Given the description of an element on the screen output the (x, y) to click on. 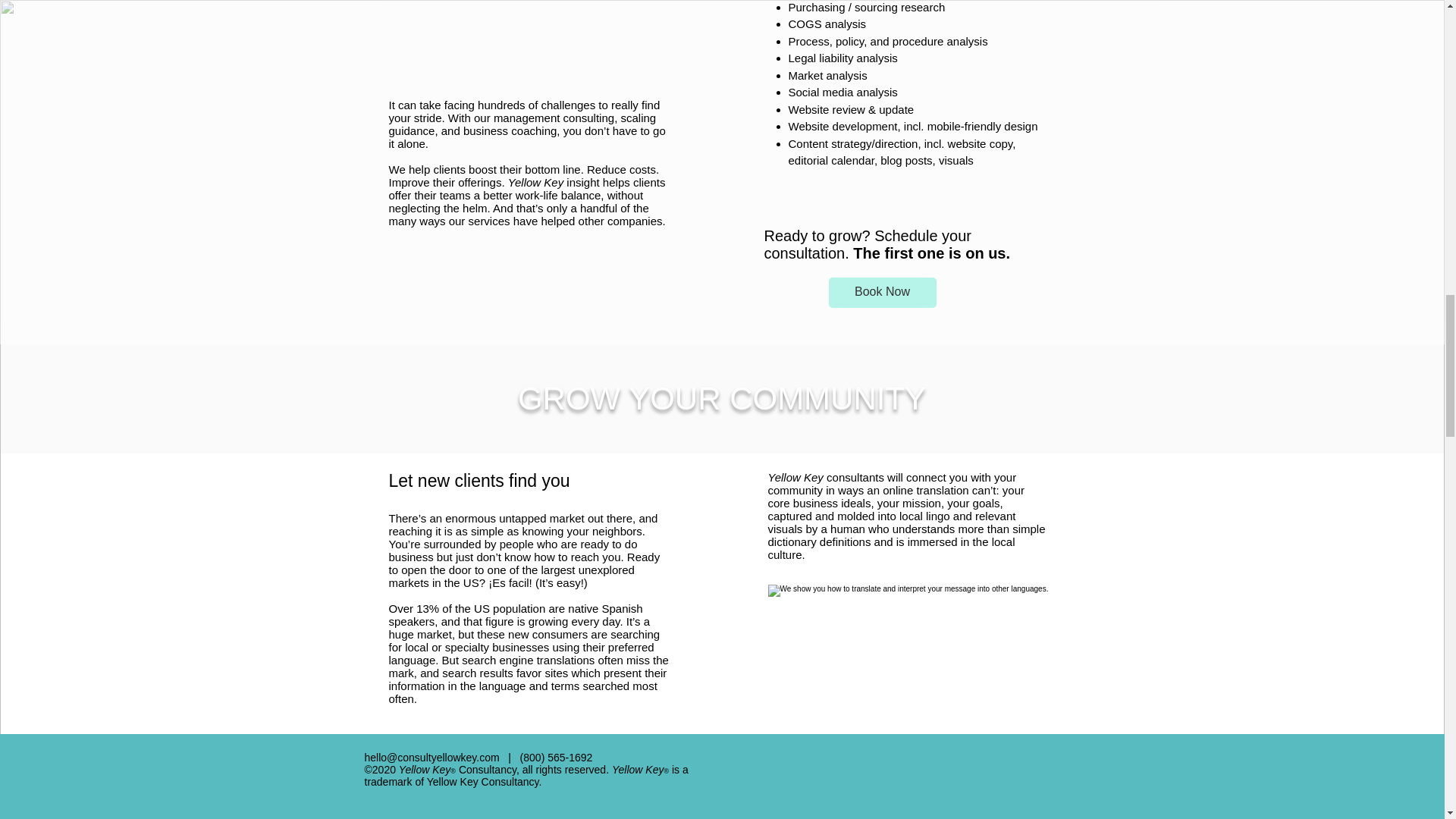
Book Now (882, 292)
